Given the description of an element on the screen output the (x, y) to click on. 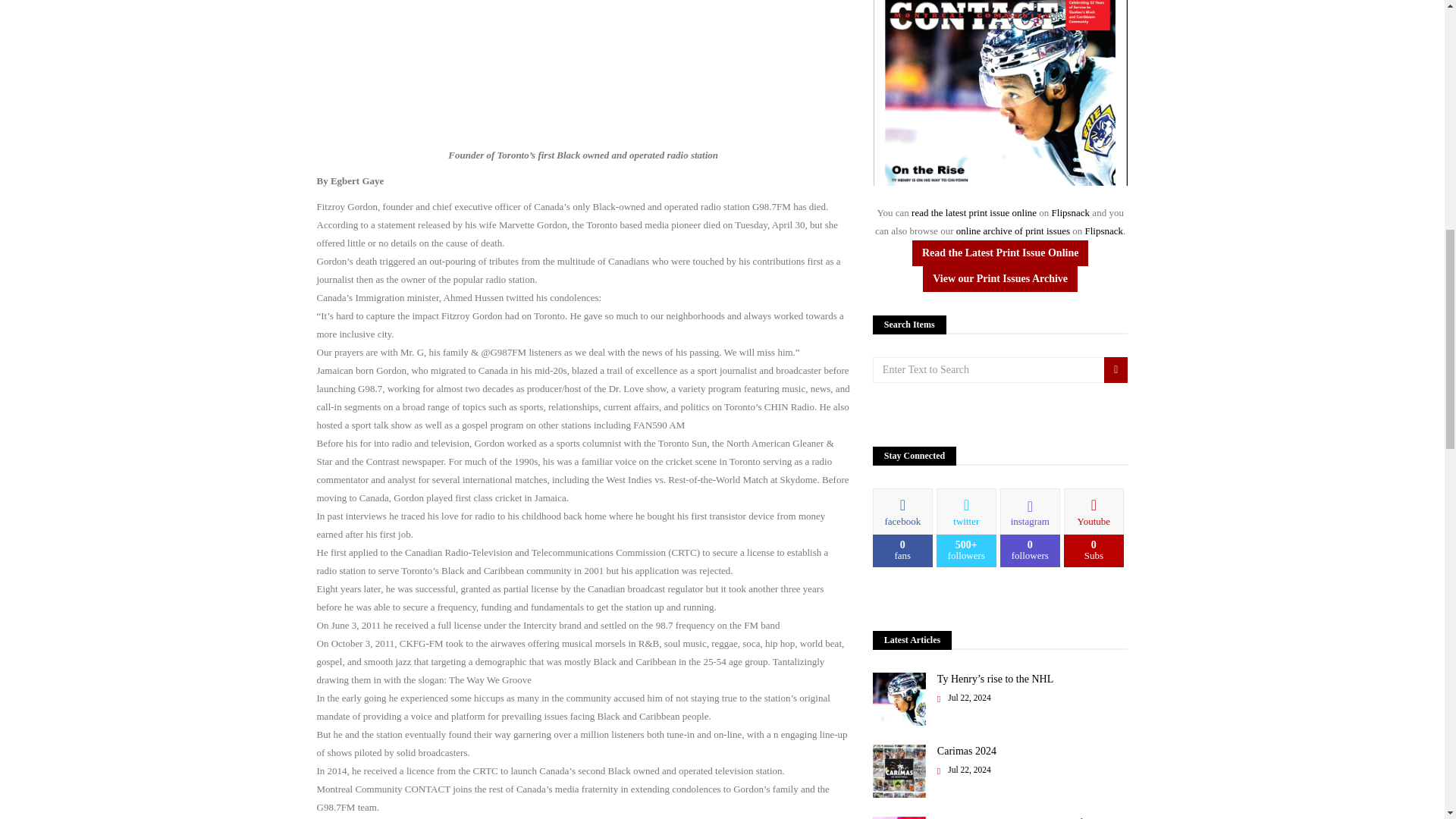
Advertisement (583, 61)
